Given the description of an element on the screen output the (x, y) to click on. 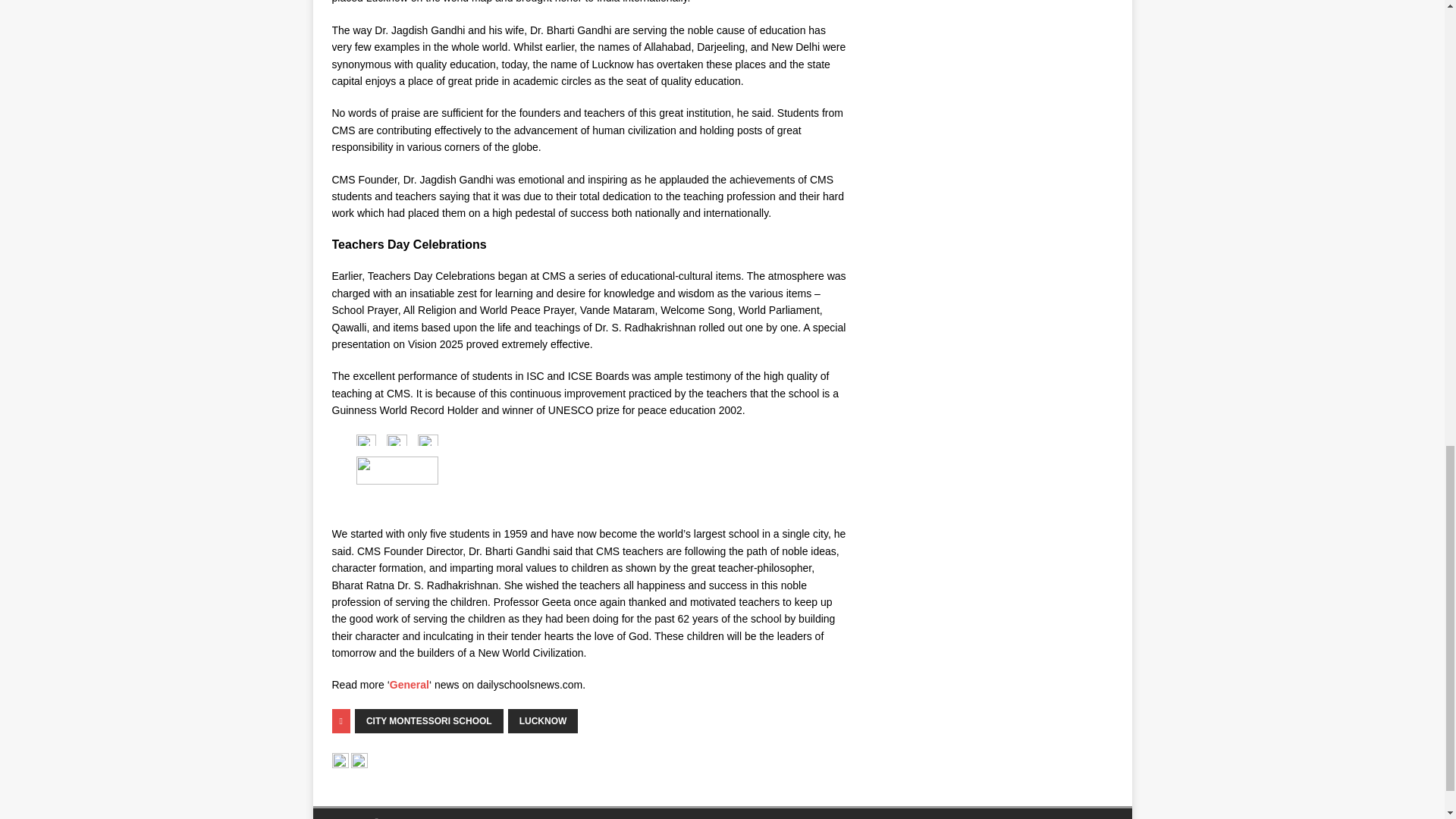
General (409, 684)
CITY MONTESSORI SCHOOL (429, 721)
LUCKNOW (543, 721)
